Given the description of an element on the screen output the (x, y) to click on. 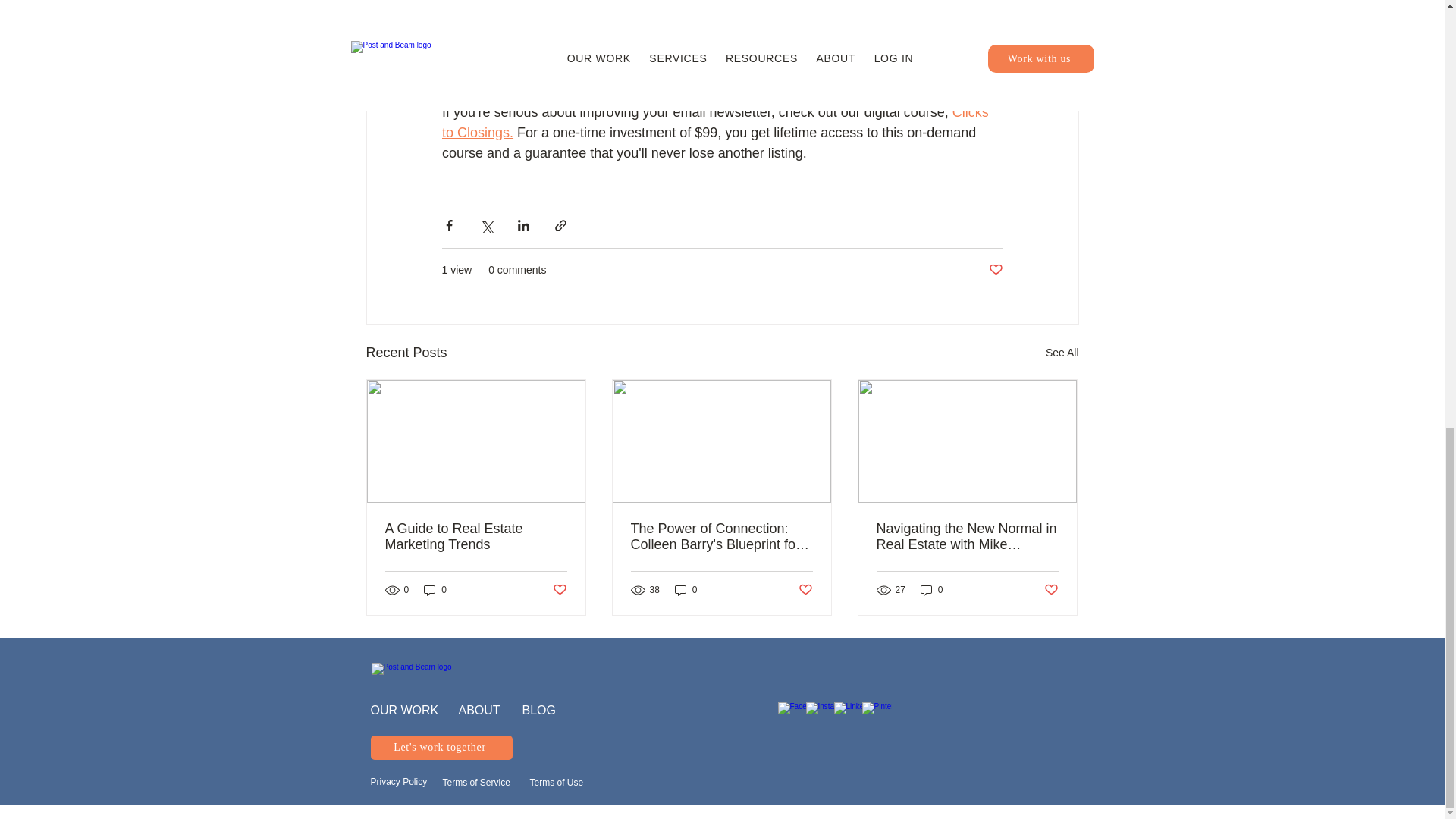
See All (1061, 352)
Clicks to Closings. (716, 122)
Post not marked as liked (995, 270)
Take a listen here. (721, 60)
Post not marked as liked (804, 589)
Post not marked as liked (558, 589)
0 (685, 590)
Post not marked as liked (1050, 589)
A Guide to Real Estate Marketing Trends (476, 536)
0 (931, 590)
